Given the description of an element on the screen output the (x, y) to click on. 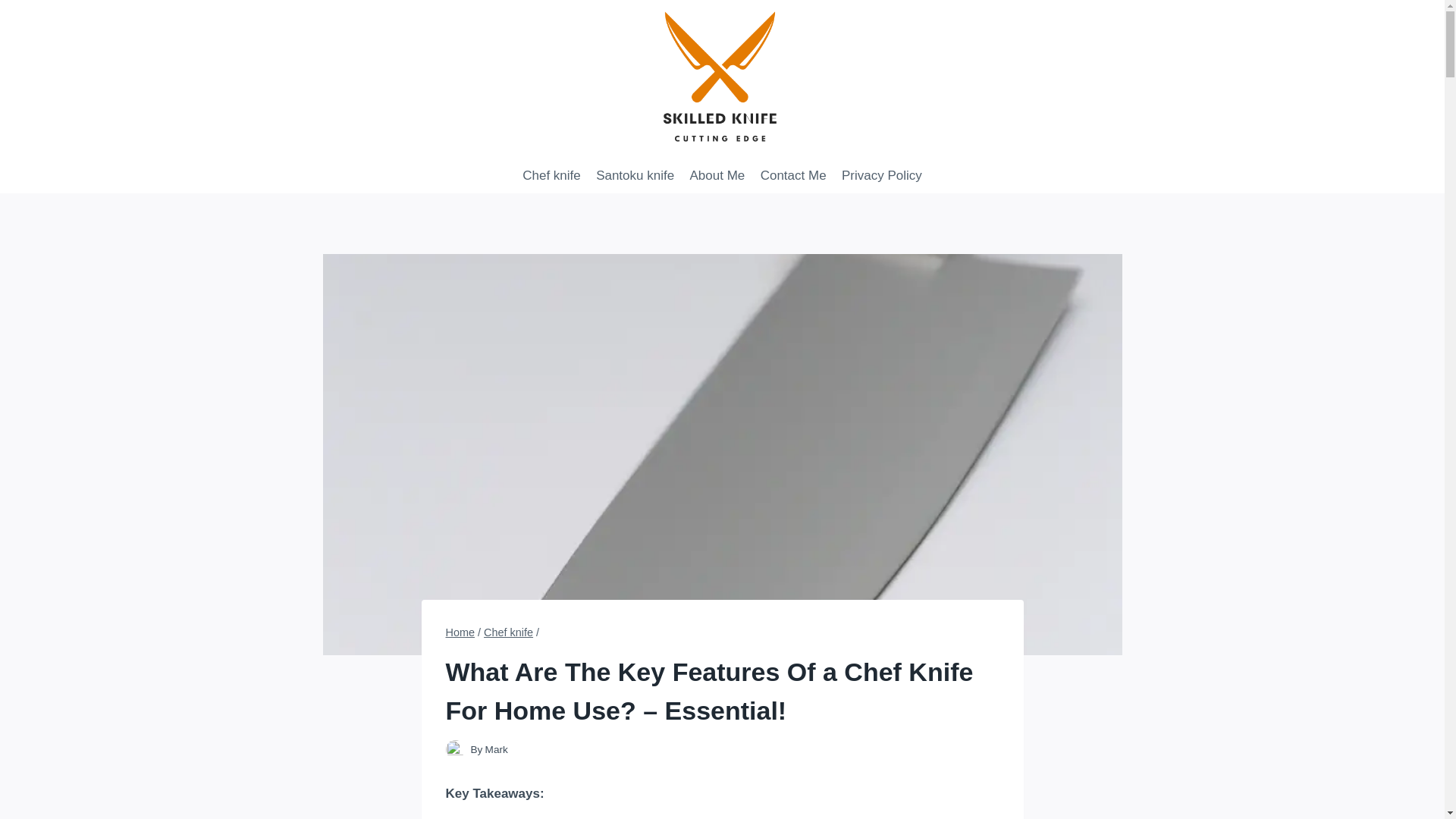
Mark (496, 749)
Chef knife (507, 632)
Contact Me (792, 175)
Chef knife (551, 175)
Home (460, 632)
About Me (716, 175)
Santoku knife (634, 175)
Privacy Policy (882, 175)
